Given the description of an element on the screen output the (x, y) to click on. 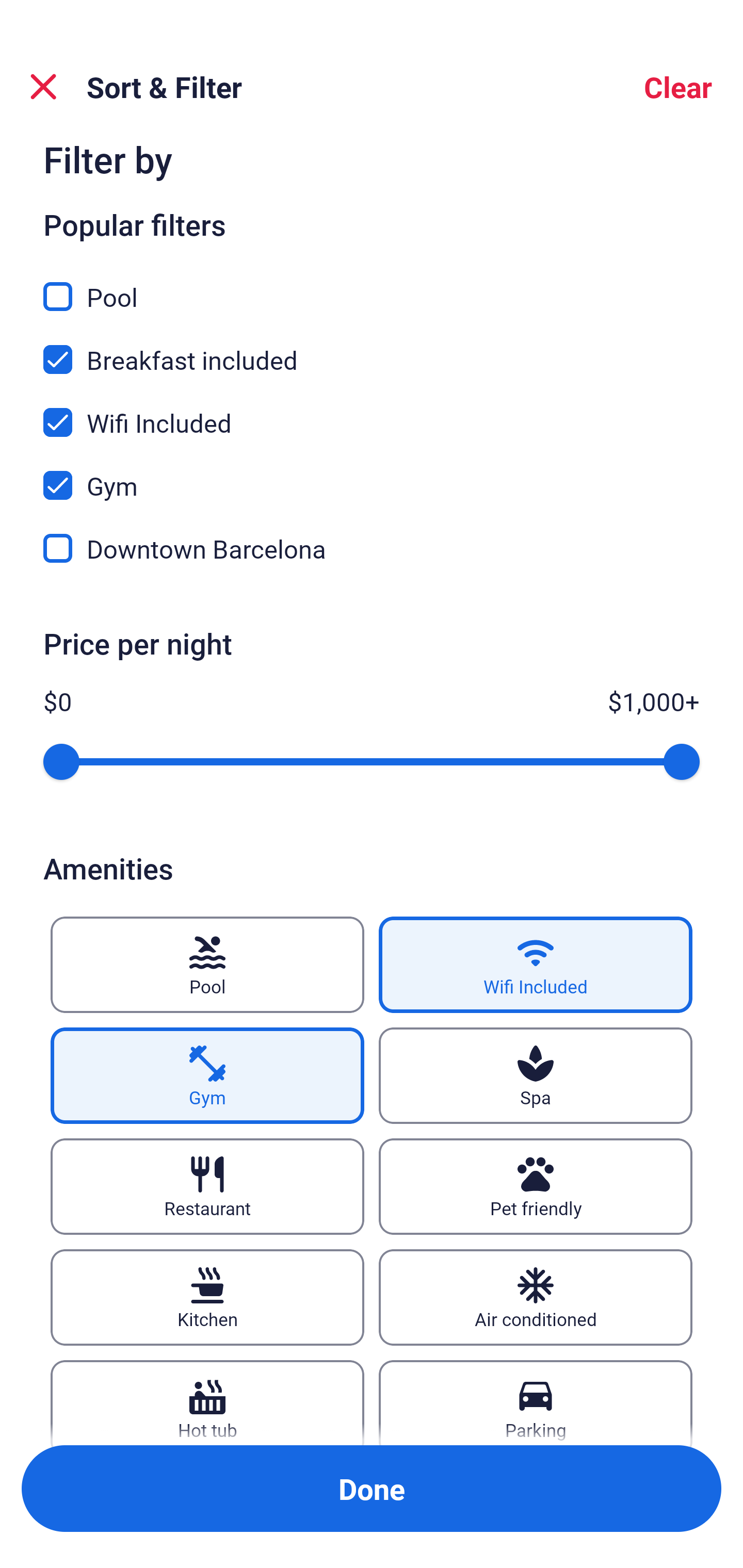
Close Sort and Filter (43, 86)
Clear (677, 86)
Pool, Pool (371, 285)
Breakfast included, Breakfast included (371, 347)
Wifi Included, Wifi Included (371, 410)
Gym, Gym (371, 473)
Downtown Barcelona, Downtown Barcelona (371, 548)
Pool (207, 964)
Wifi Included (535, 964)
Gym (207, 1075)
Spa (535, 1075)
Restaurant (207, 1186)
Pet friendly (535, 1186)
Kitchen (207, 1297)
Air conditioned (535, 1297)
Hot tub (207, 1402)
Parking (535, 1402)
Apply and close Sort and Filter Done (371, 1488)
